Given the description of an element on the screen output the (x, y) to click on. 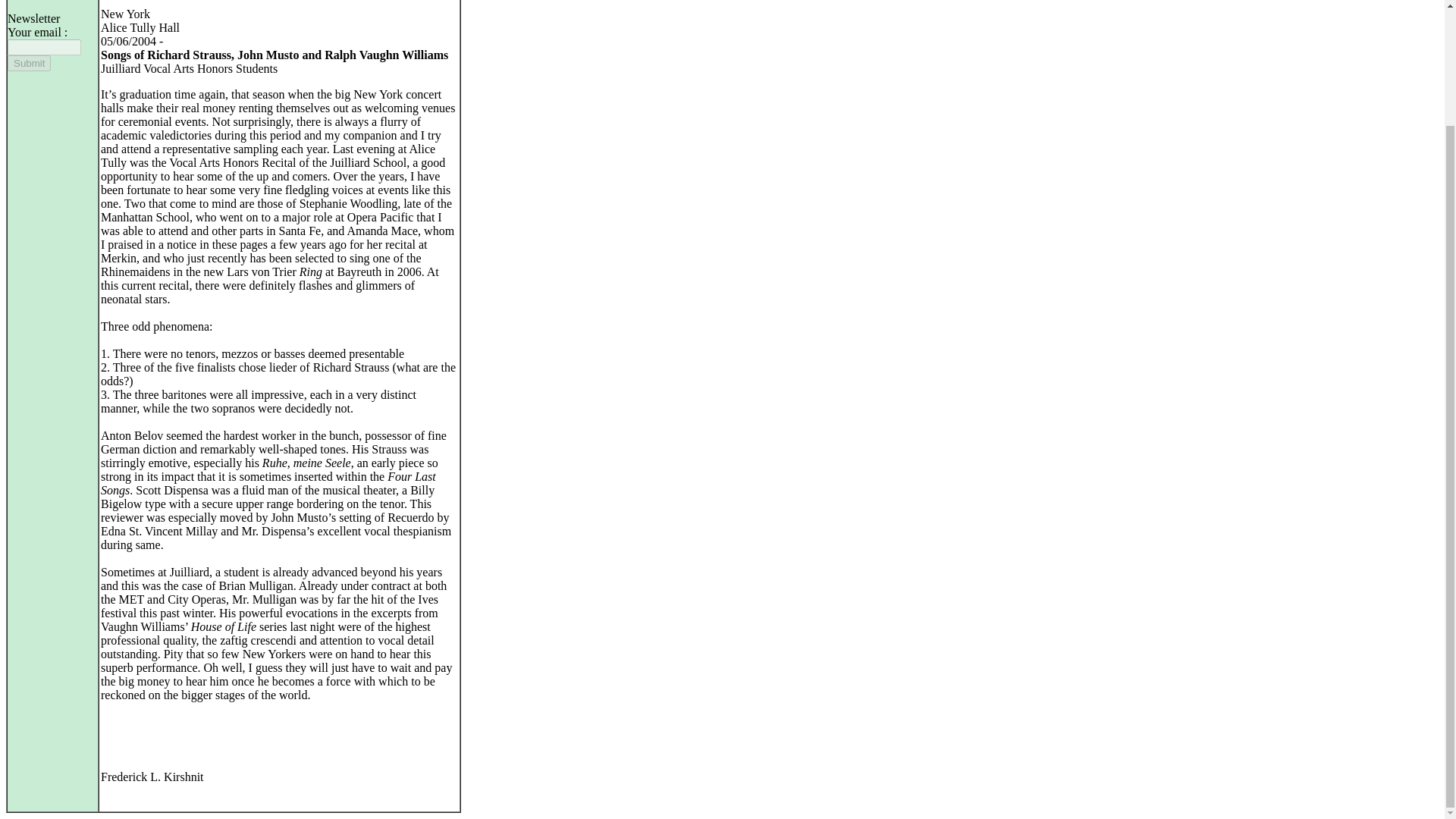
Submit (28, 63)
Submit (28, 63)
